Given the description of an element on the screen output the (x, y) to click on. 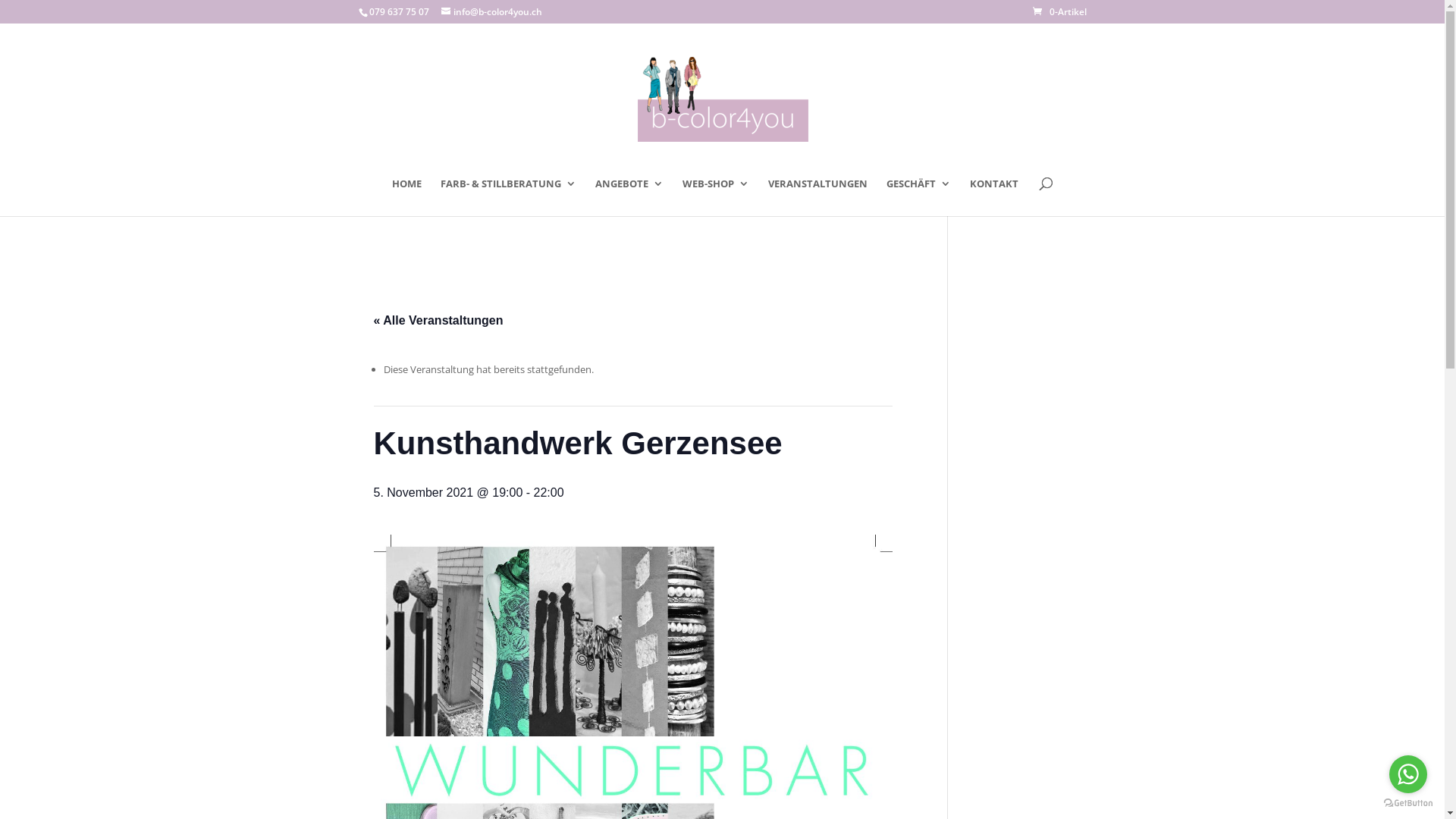
FARB- & STILLBERATUNG Element type: text (508, 197)
HOME Element type: text (406, 197)
0-Artikel Element type: text (1059, 11)
WEB-SHOP Element type: text (715, 197)
KONTAKT Element type: text (993, 197)
ANGEBOTE Element type: text (629, 197)
VERANSTALTUNGEN Element type: text (817, 197)
info@b-color4you.ch Element type: text (491, 11)
